Given the description of an element on the screen output the (x, y) to click on. 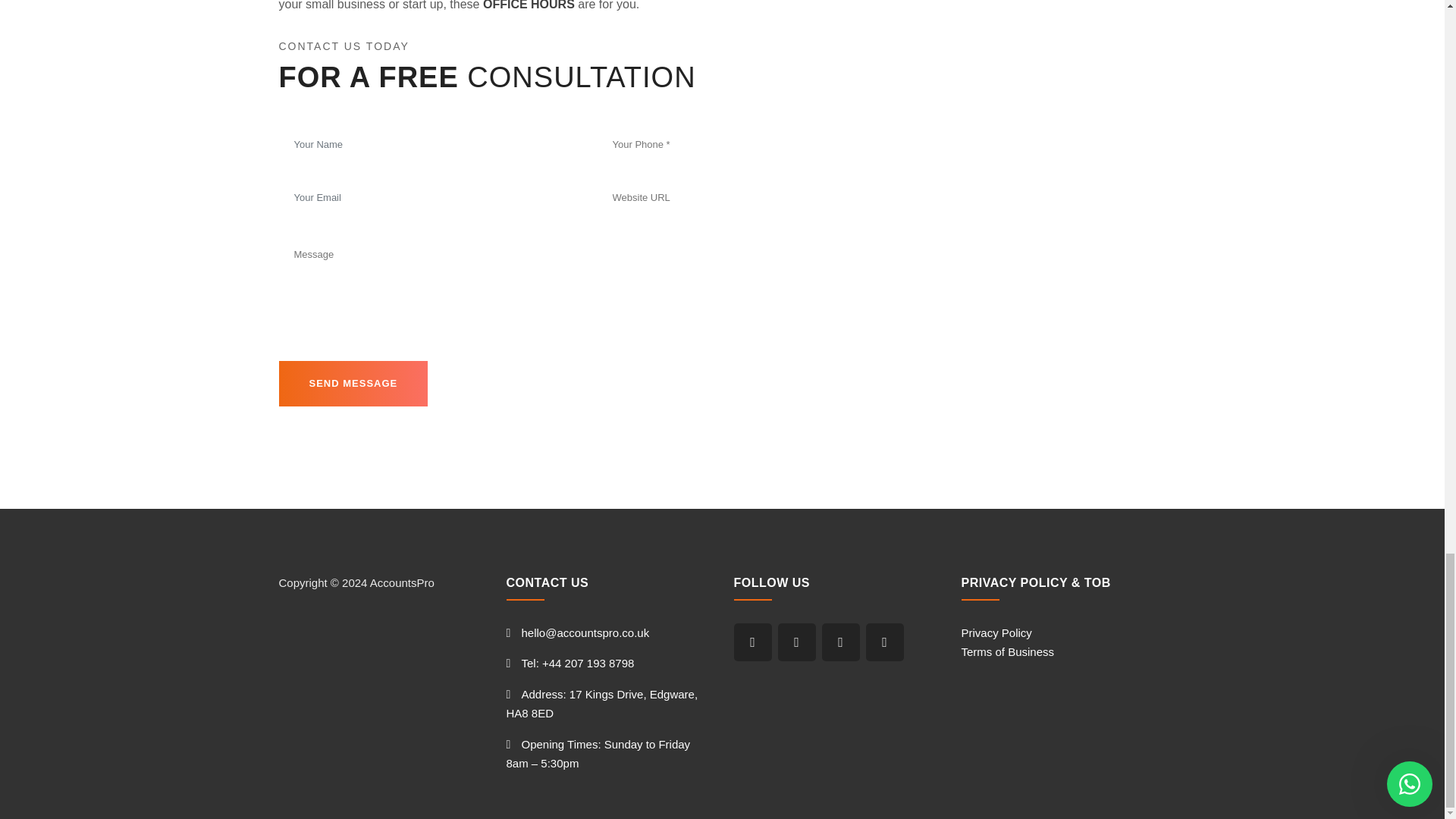
Send Message (353, 383)
OFFICE HOURS (529, 5)
Send Message (353, 383)
